Given the description of an element on the screen output the (x, y) to click on. 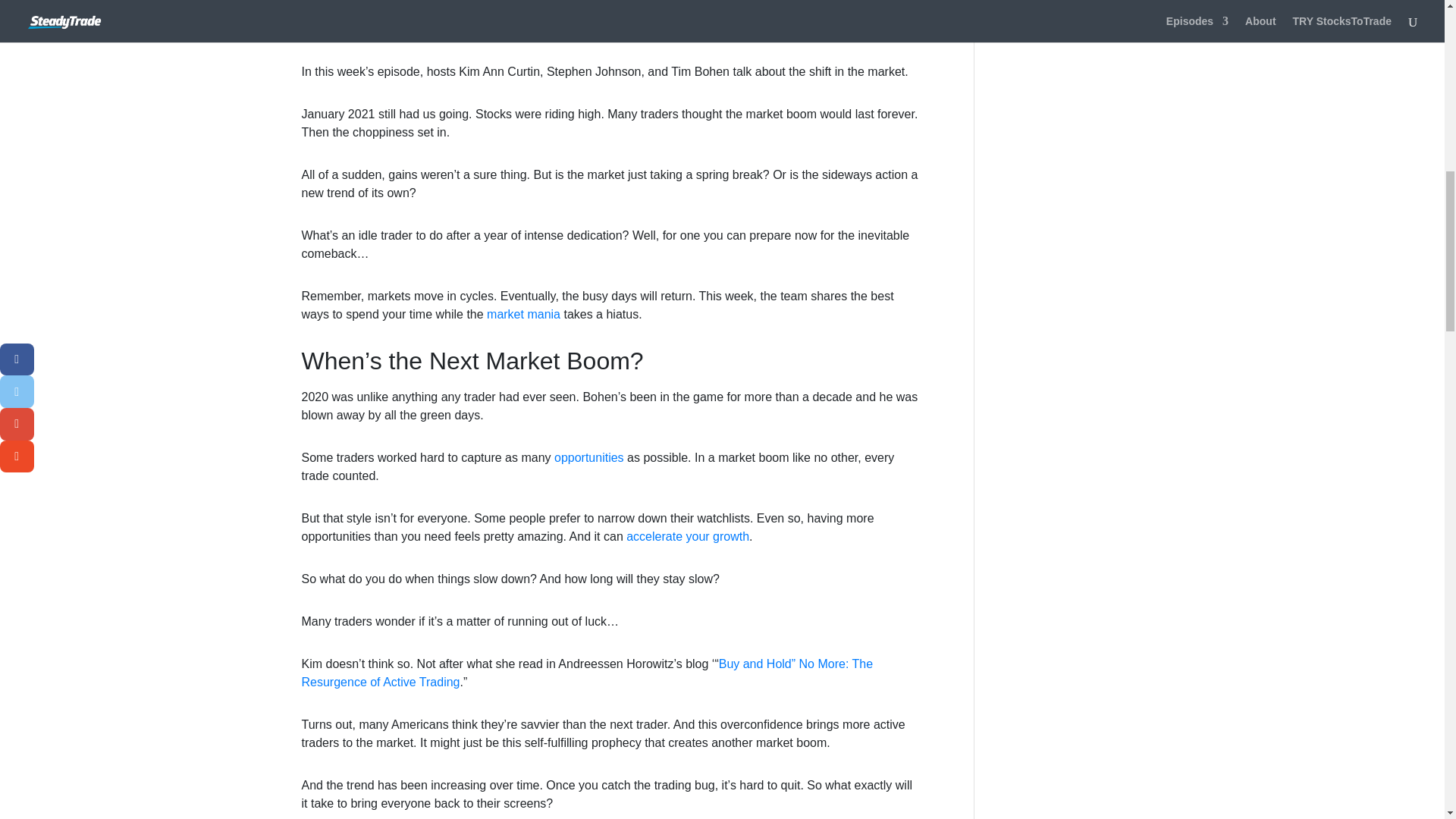
market mania (523, 314)
accelerate your growth (687, 535)
opportunities (589, 457)
